Given the description of an element on the screen output the (x, y) to click on. 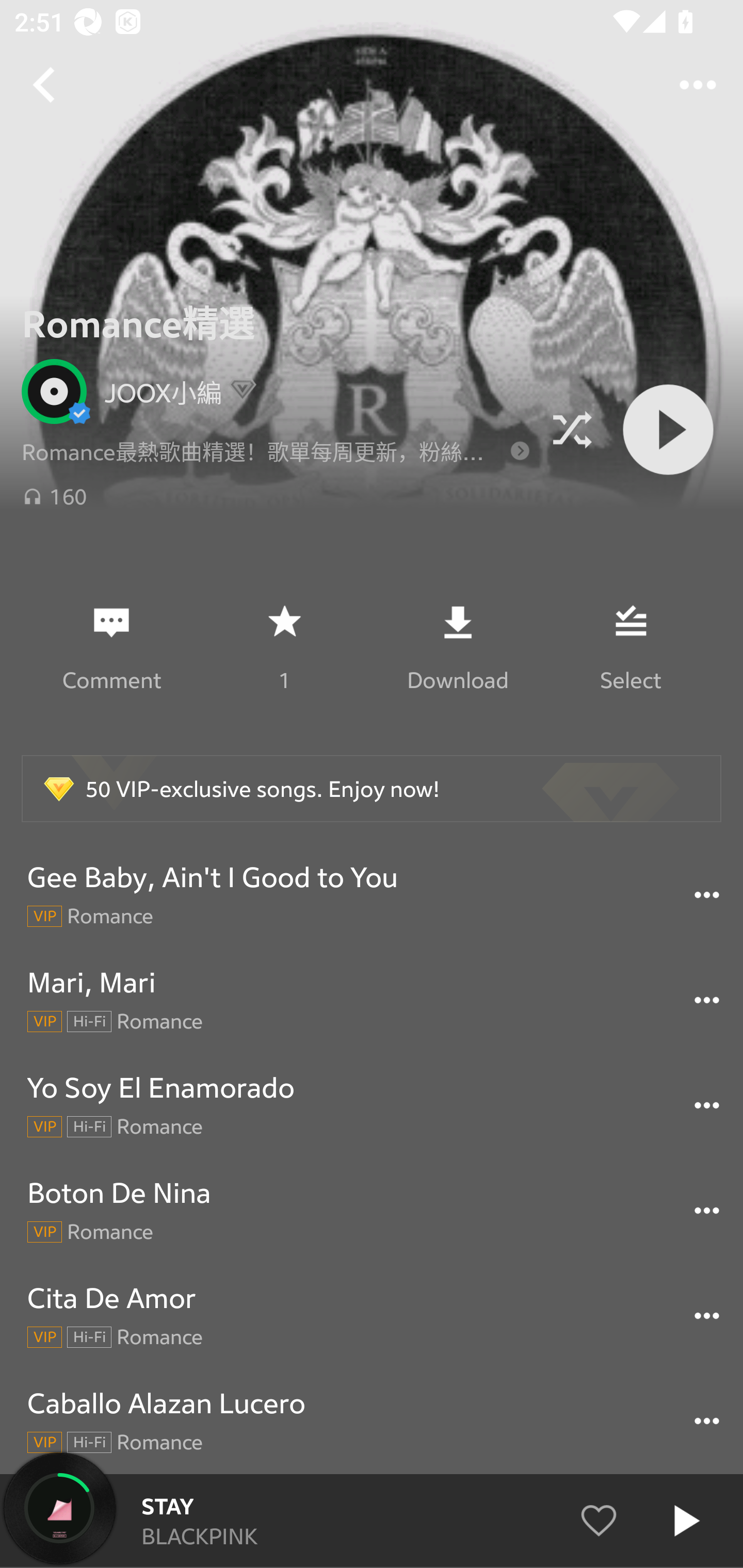
Romance精選 JOOX小編 Romance最熱歌曲精選！歌單每周更新，粉絲必收藏！ 160 (371, 402)
JOOX小編 (276, 391)
JOOX小編 (156, 391)
Romance最熱歌曲精選！歌單每周更新，粉絲必收藏！ 160 (276, 472)
Comment (111, 647)
1 (284, 647)
Download (457, 647)
Select (630, 647)
50 VIP-exclusive songs. Enjoy now! (371, 788)
Gee Baby, Ain't I Good to You VIP Romance (371, 895)
Mari, Mari VIP Hi-Fi Romance (371, 1000)
Yo Soy El Enamorado VIP Hi-Fi Romance (371, 1105)
Boton De Nina VIP Romance (371, 1210)
Cita De Amor VIP Hi-Fi Romance (371, 1315)
Caballo Alazan Lucero VIP Hi-Fi Romance (371, 1420)
Llego Borracho El Borracho VIP Hi-Fi Romance (371, 1520)
